Given the description of an element on the screen output the (x, y) to click on. 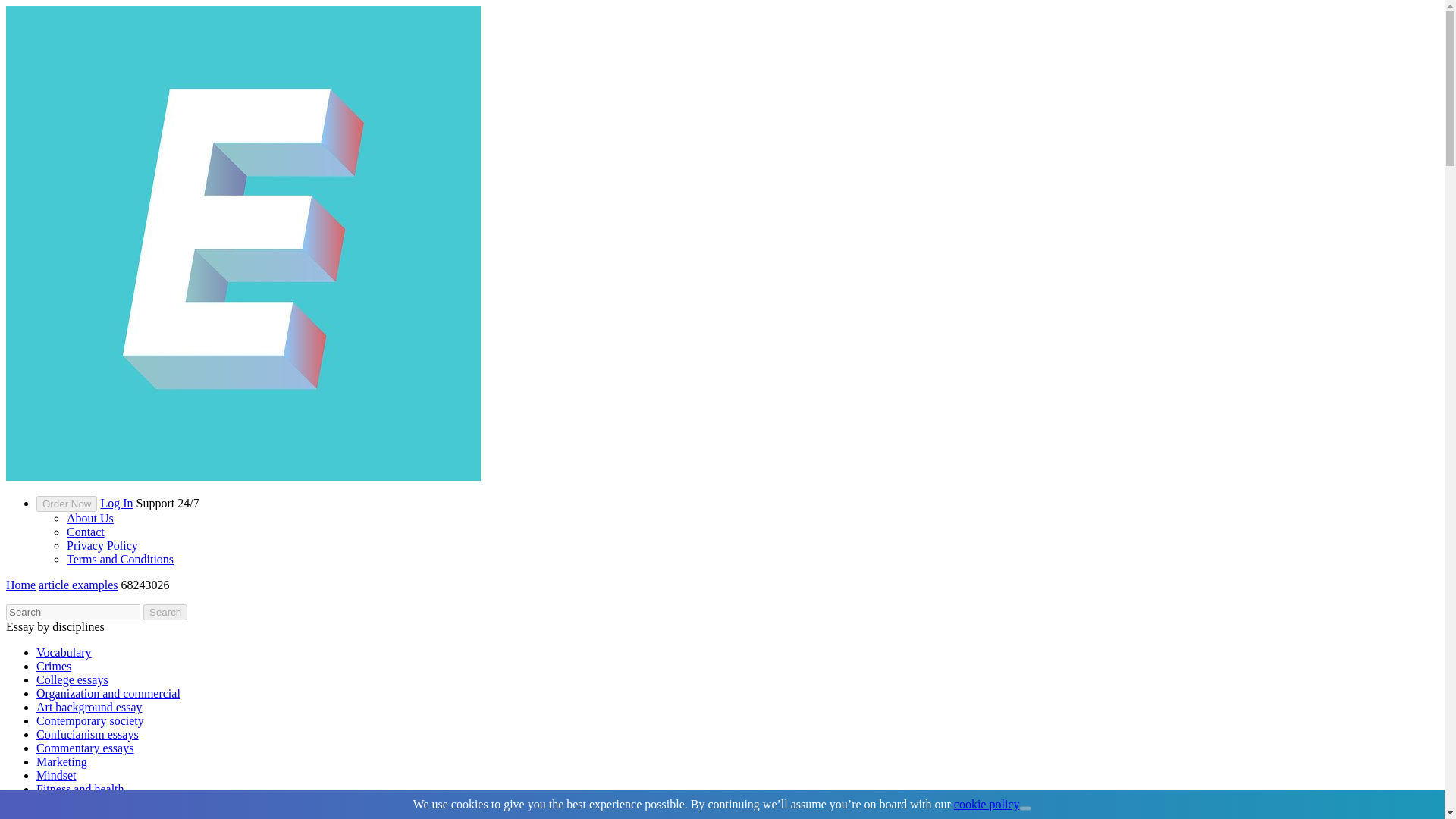
article examples (78, 584)
Terms and Conditions (119, 558)
Search (164, 611)
cookie policy (986, 803)
Vocabulary (63, 652)
Fitness and health (79, 788)
Log In (116, 502)
Crimes (53, 666)
Privacy Policy (102, 545)
About Us (89, 517)
